Given the description of an element on the screen output the (x, y) to click on. 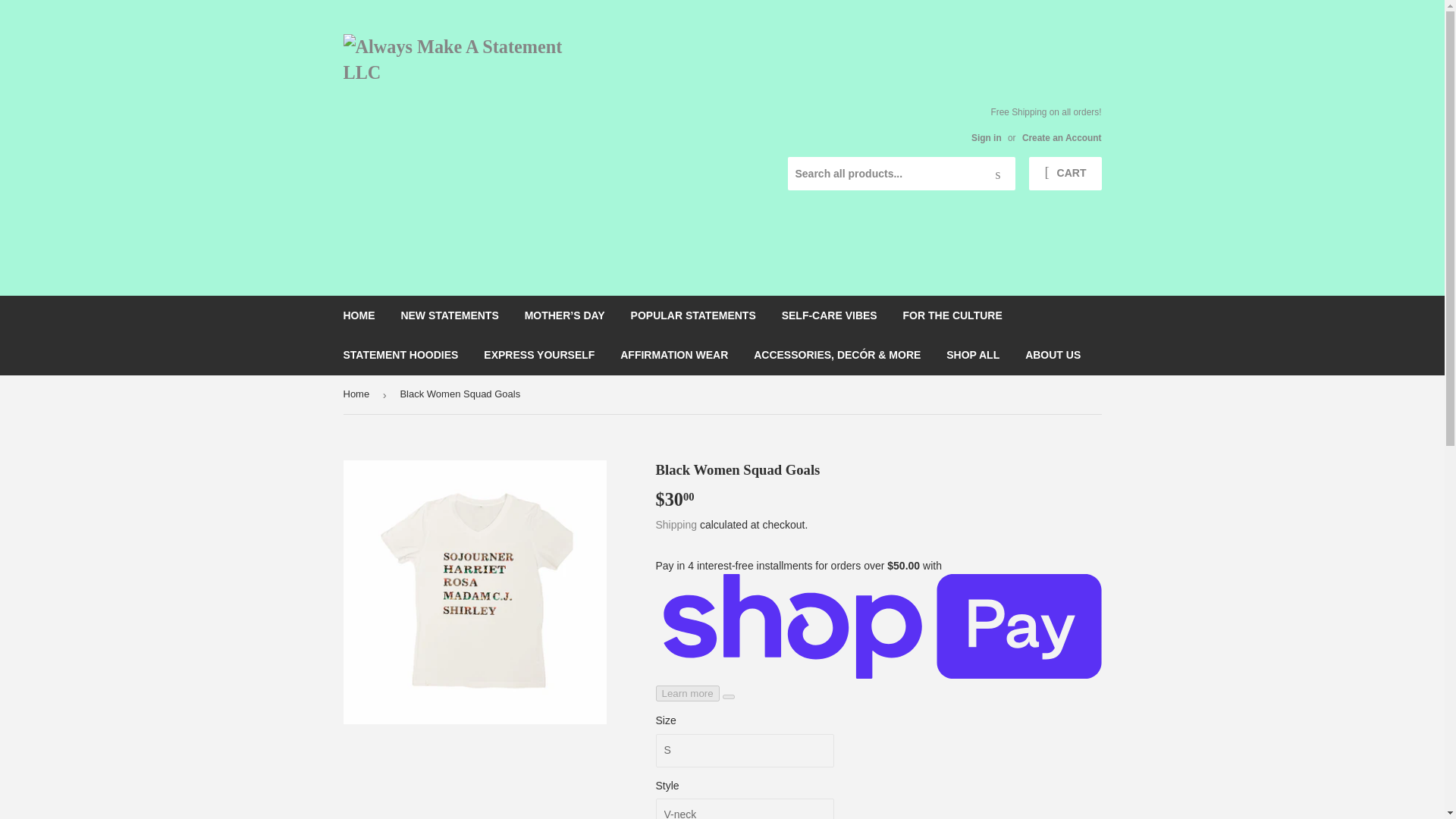
STATEMENT HOODIES (400, 354)
SELF-CARE VIBES (829, 314)
AFFIRMATION WEAR (673, 354)
POPULAR STATEMENTS (693, 314)
Sign in (986, 137)
CART (1064, 173)
FOR THE CULTURE (952, 314)
Shipping (676, 524)
EXPRESS YOURSELF (538, 354)
Search (997, 174)
SHOP ALL (972, 354)
ABOUT US (1052, 354)
NEW STATEMENTS (448, 314)
Create an Account (1062, 137)
HOME (359, 314)
